Given the description of an element on the screen output the (x, y) to click on. 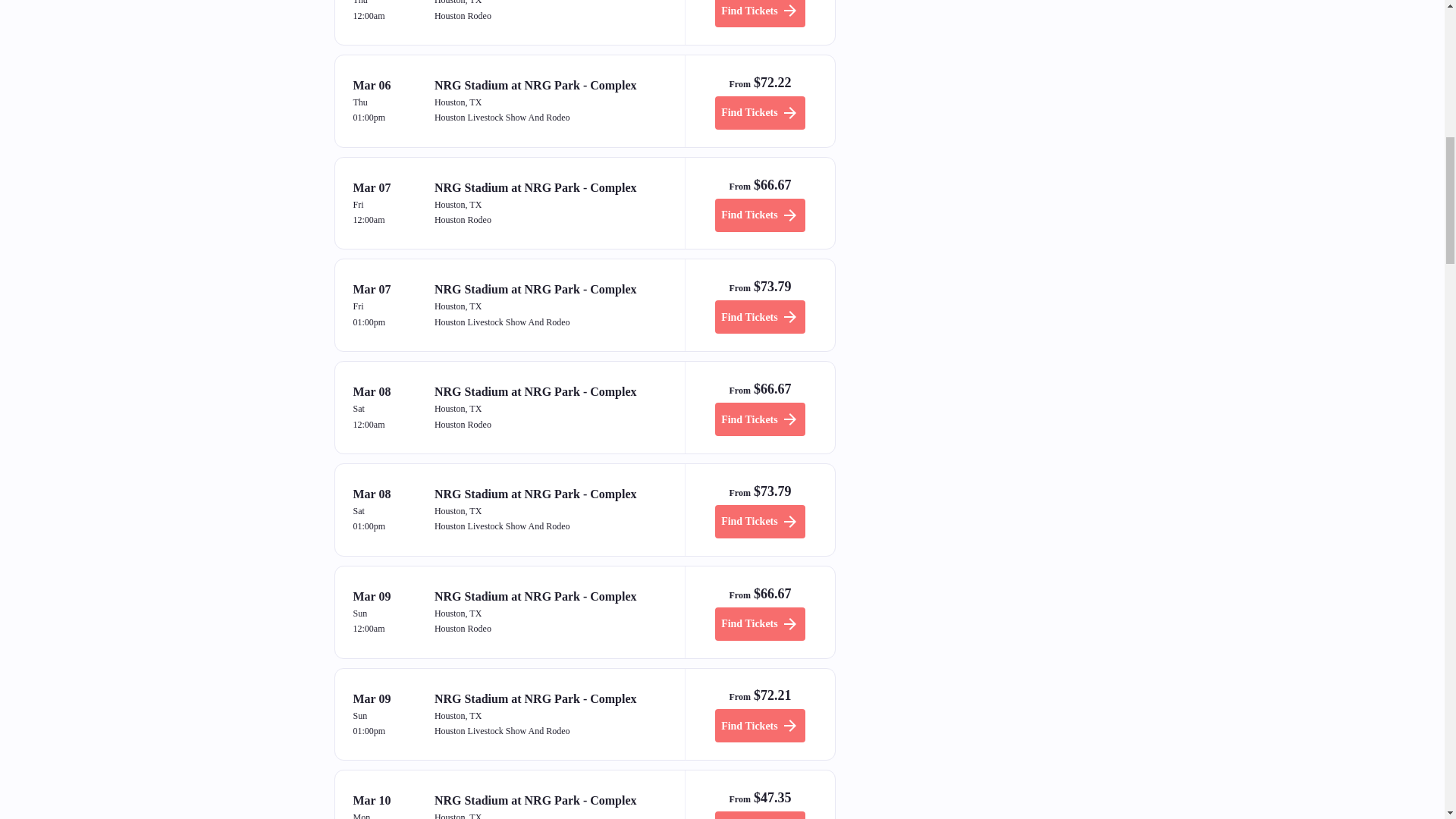
Find Tickets (759, 418)
Find Tickets (759, 725)
Find Tickets (759, 815)
Find Tickets (759, 215)
Find Tickets (759, 623)
Find Tickets (759, 316)
Find Tickets (759, 521)
Find Tickets (759, 112)
Find Tickets (759, 13)
